Given the description of an element on the screen output the (x, y) to click on. 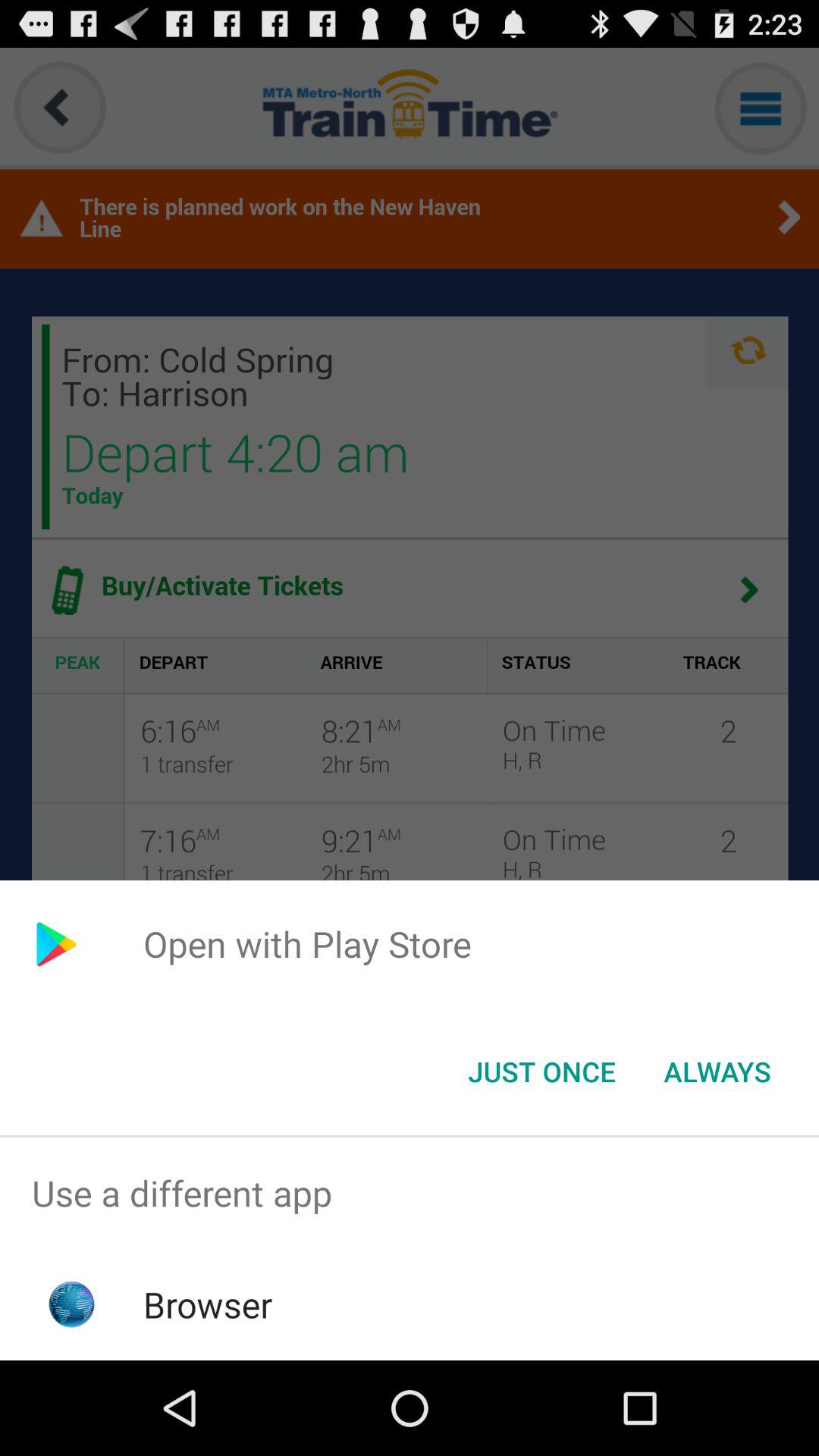
swipe to the always icon (717, 1071)
